Given the description of an element on the screen output the (x, y) to click on. 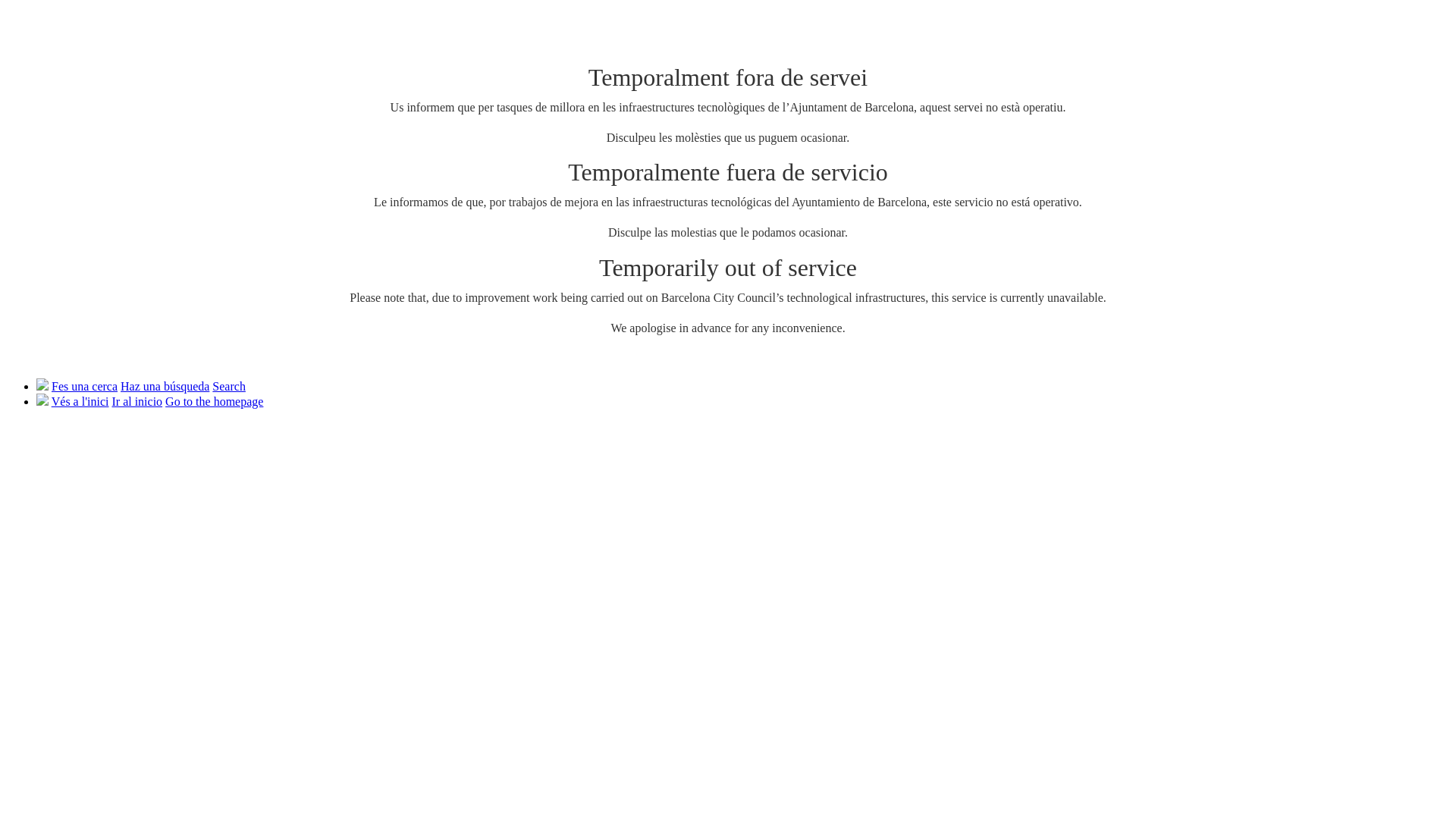
Ir al inicio Element type: text (136, 401)
Fes una cerca Element type: text (84, 385)
Search Element type: text (228, 385)
Go to the homepage Element type: text (214, 401)
